Given the description of an element on the screen output the (x, y) to click on. 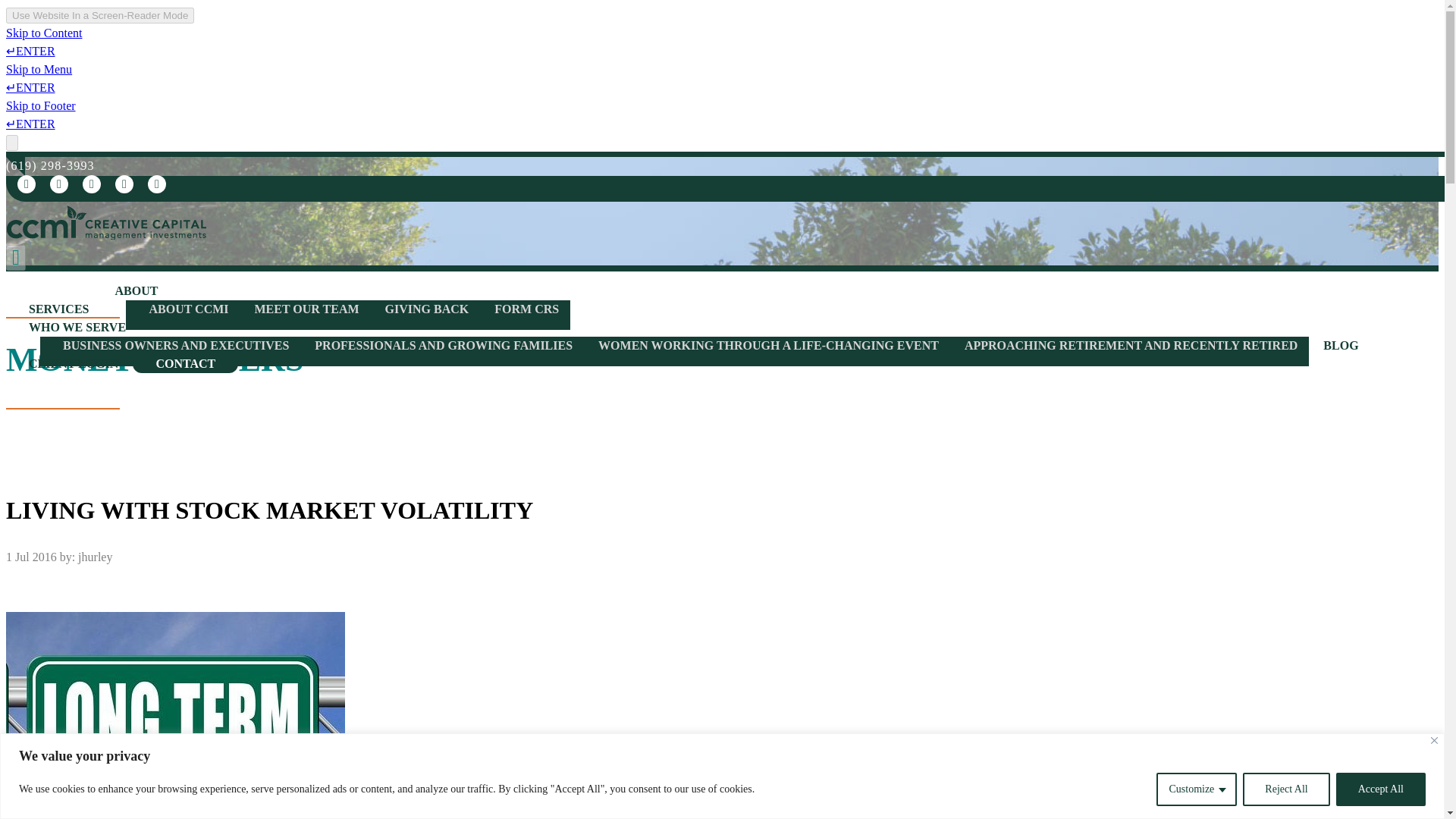
Client Login (73, 363)
WOMEN WORKING THROUGH A LIFE-CHANGING EVENT (768, 345)
Contact (185, 363)
ABOUT (135, 290)
LinkedIn (58, 184)
FORM CRS (526, 308)
youtube (156, 184)
About CCMI (188, 308)
CONTACT (185, 363)
CLIENT LOGIN (73, 363)
APPROACHING RETIREMENT AND RECENTLY RETIRED (1130, 345)
Accept All (1380, 788)
MEET OUR TEAM (307, 308)
Approaching Retirement and Recently Retired (1130, 345)
ABOUT CCMI (188, 308)
